Given the description of an element on the screen output the (x, y) to click on. 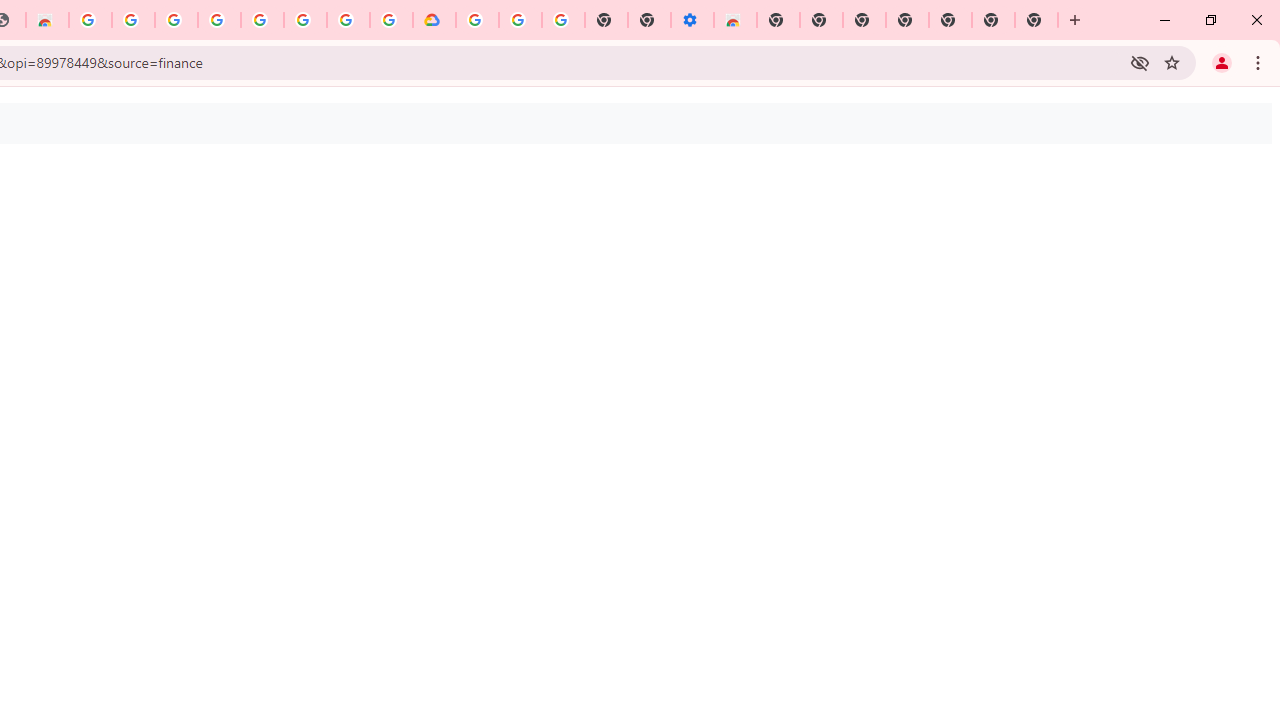
Google Account Help (262, 20)
Google Account Help (520, 20)
Create your Google Account (347, 20)
Settings - Accessibility (692, 20)
Browse the Google Chrome Community - Google Chrome Community (391, 20)
Chrome Web Store - Household (47, 20)
New Tab (1036, 20)
Ad Settings (176, 20)
